Given the description of an element on the screen output the (x, y) to click on. 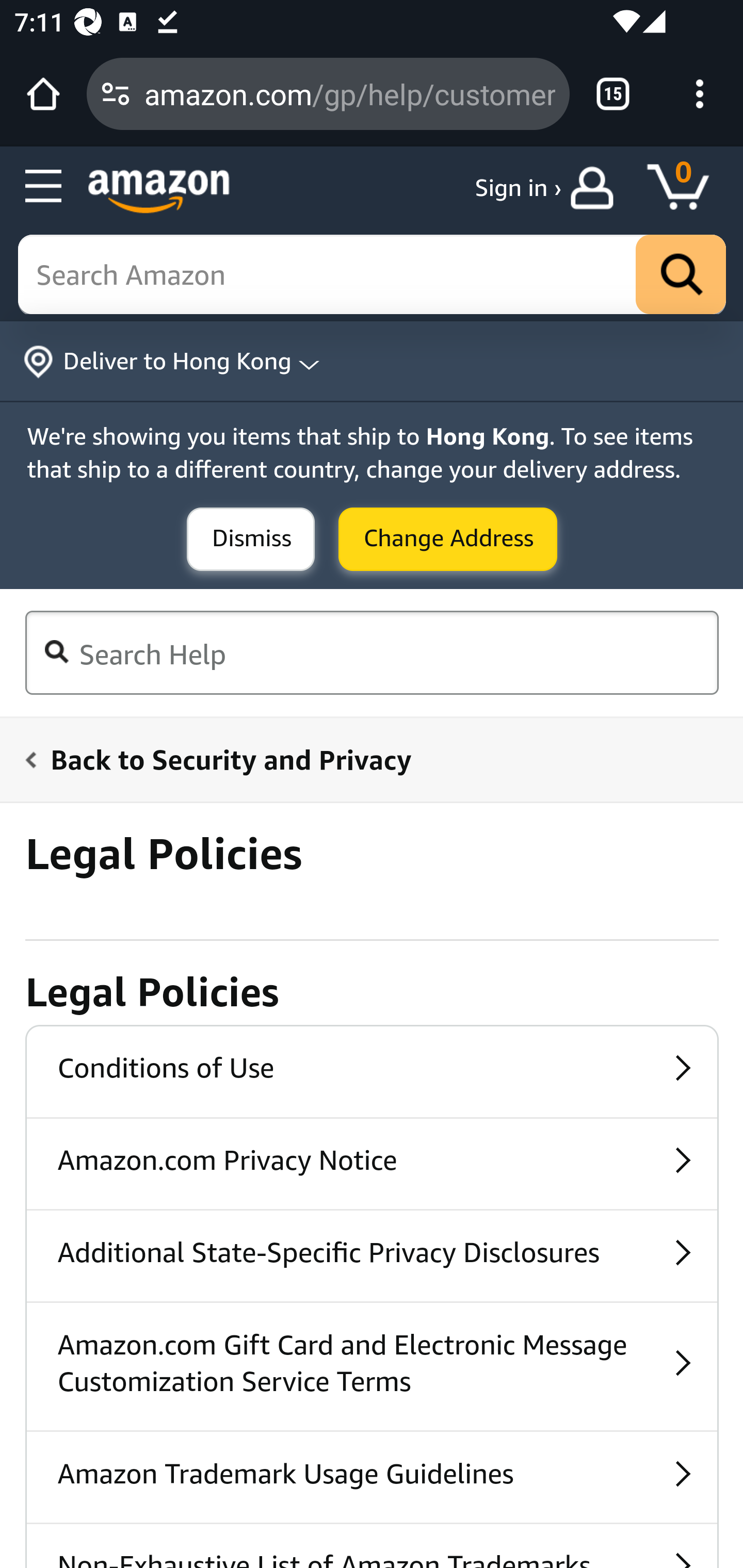
Open the home page (43, 93)
Connection is secure (115, 93)
Switch or close tabs (612, 93)
Customize and control Google Chrome (699, 93)
Open Menu (44, 187)
Sign in › (518, 188)
your account (596, 188)
Cart 0 (687, 188)
Amazon (158, 191)
Go (681, 275)
Submit (250, 539)
Submit (447, 539)
Back to Security and Privacy (359, 758)
Conditions of Use (371, 1070)
Amazon.com Privacy Notice (371, 1162)
Additional State-Specific Privacy Disclosures (371, 1255)
Amazon Trademark Usage Guidelines (371, 1477)
